Given the description of an element on the screen output the (x, y) to click on. 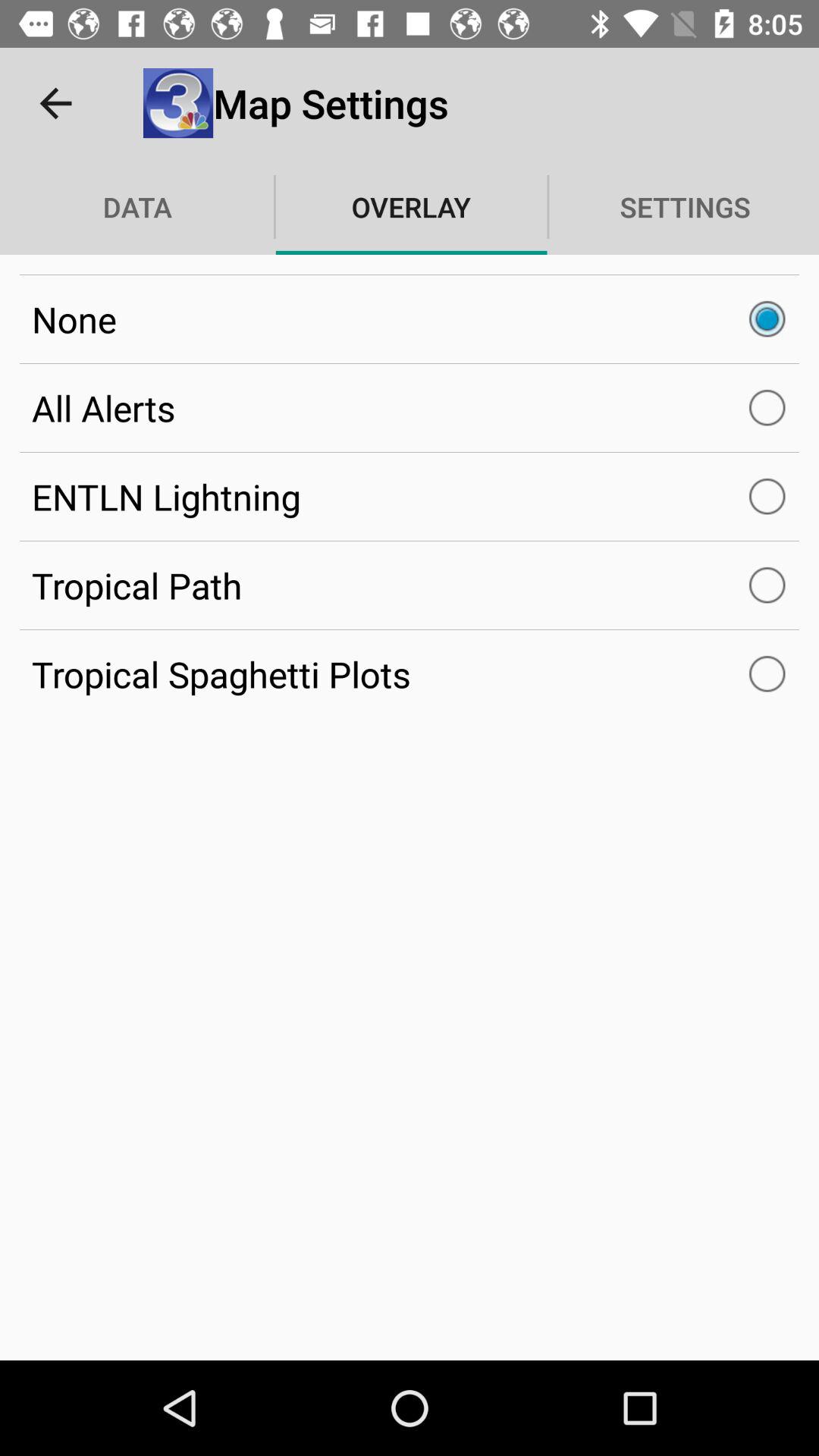
select tropical path icon (409, 585)
